Given the description of an element on the screen output the (x, y) to click on. 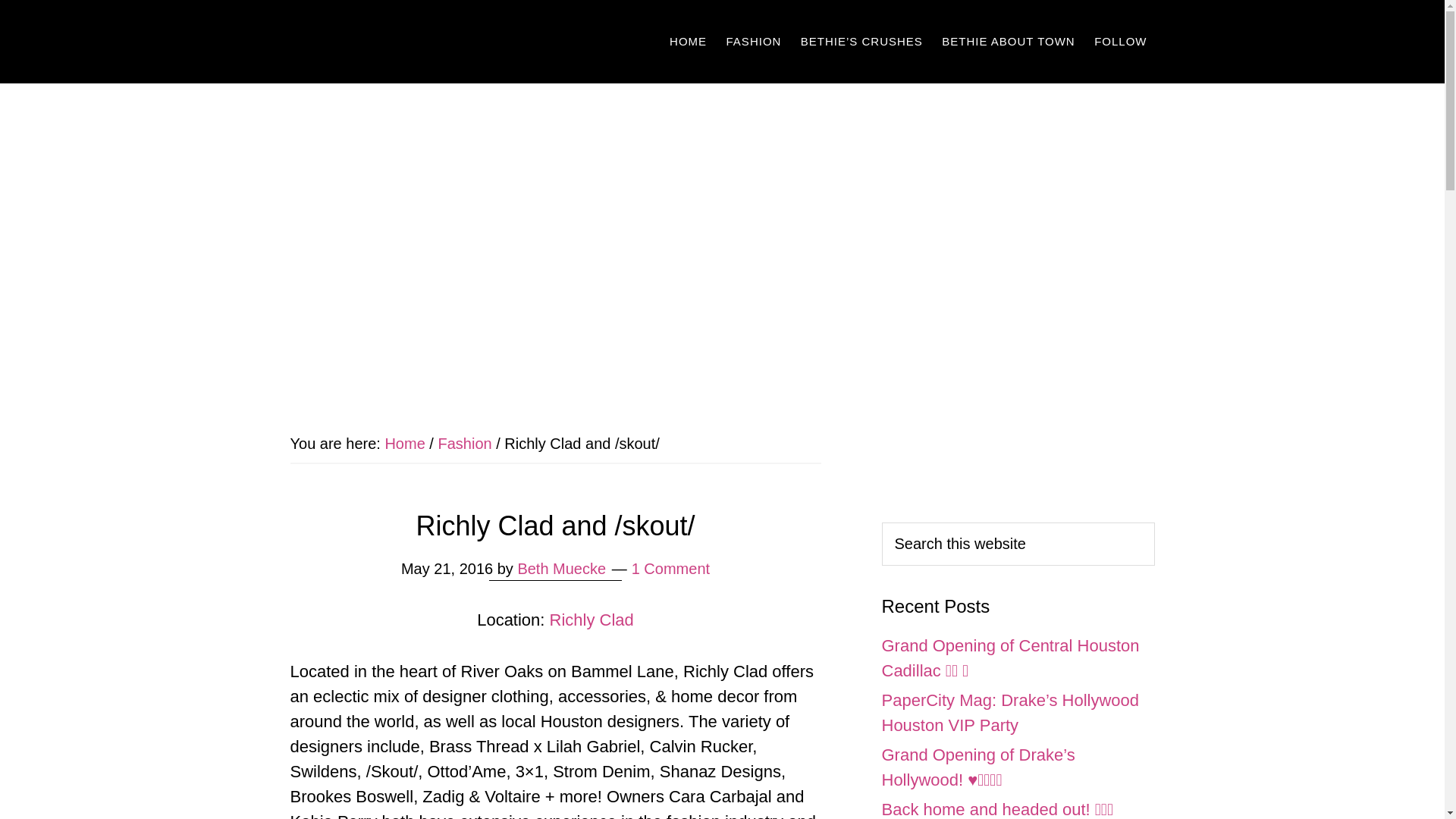
1 Comment (670, 568)
Richly Clad (591, 619)
Fashion (465, 443)
BETHIE ABOUT TOWN (1007, 41)
Beth Muecke (560, 568)
HOME (688, 41)
FASHION (754, 41)
